Given the description of an element on the screen output the (x, y) to click on. 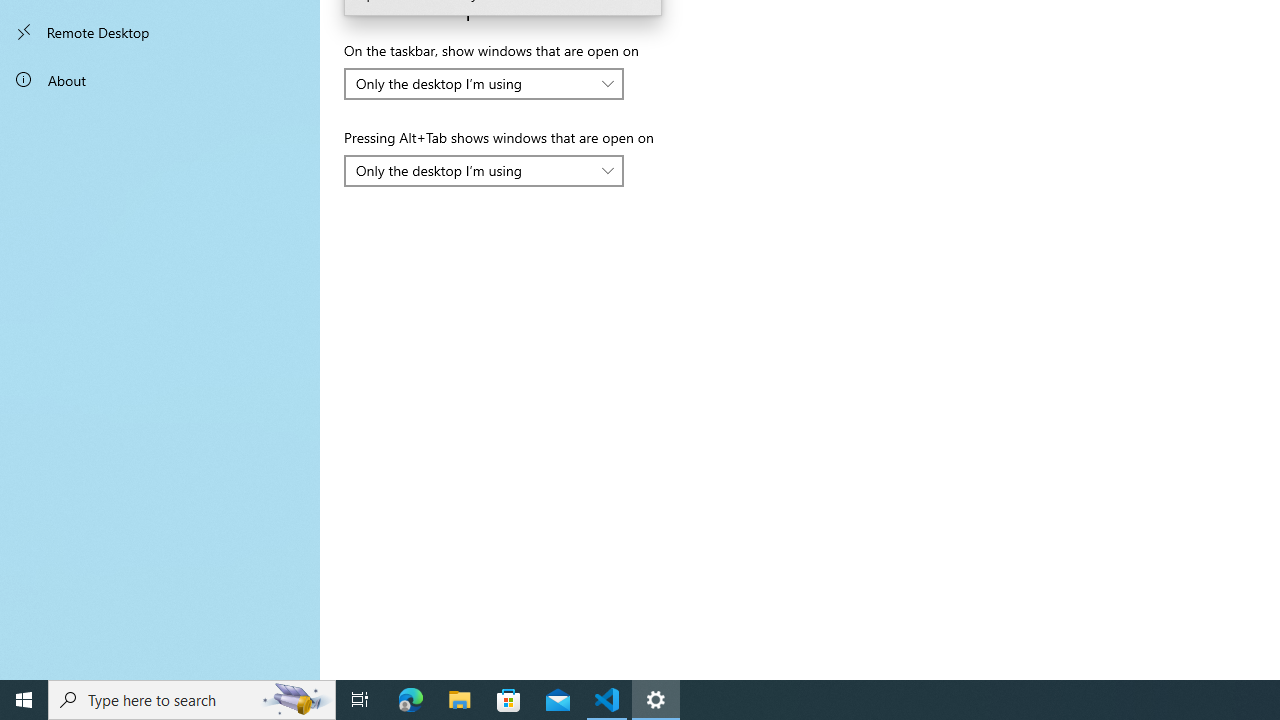
Remote Desktop (160, 31)
Search highlights icon opens search home window (295, 699)
Microsoft Store (509, 699)
About (160, 79)
Start (24, 699)
Visual Studio Code - 1 running window (607, 699)
On the taskbar, show windows that are open on (484, 83)
Pressing Alt+Tab shows windows that are open on (484, 170)
File Explorer (460, 699)
Settings - 1 running window (656, 699)
Type here to search (191, 699)
Microsoft Edge (411, 699)
Task View (359, 699)
